Given the description of an element on the screen output the (x, y) to click on. 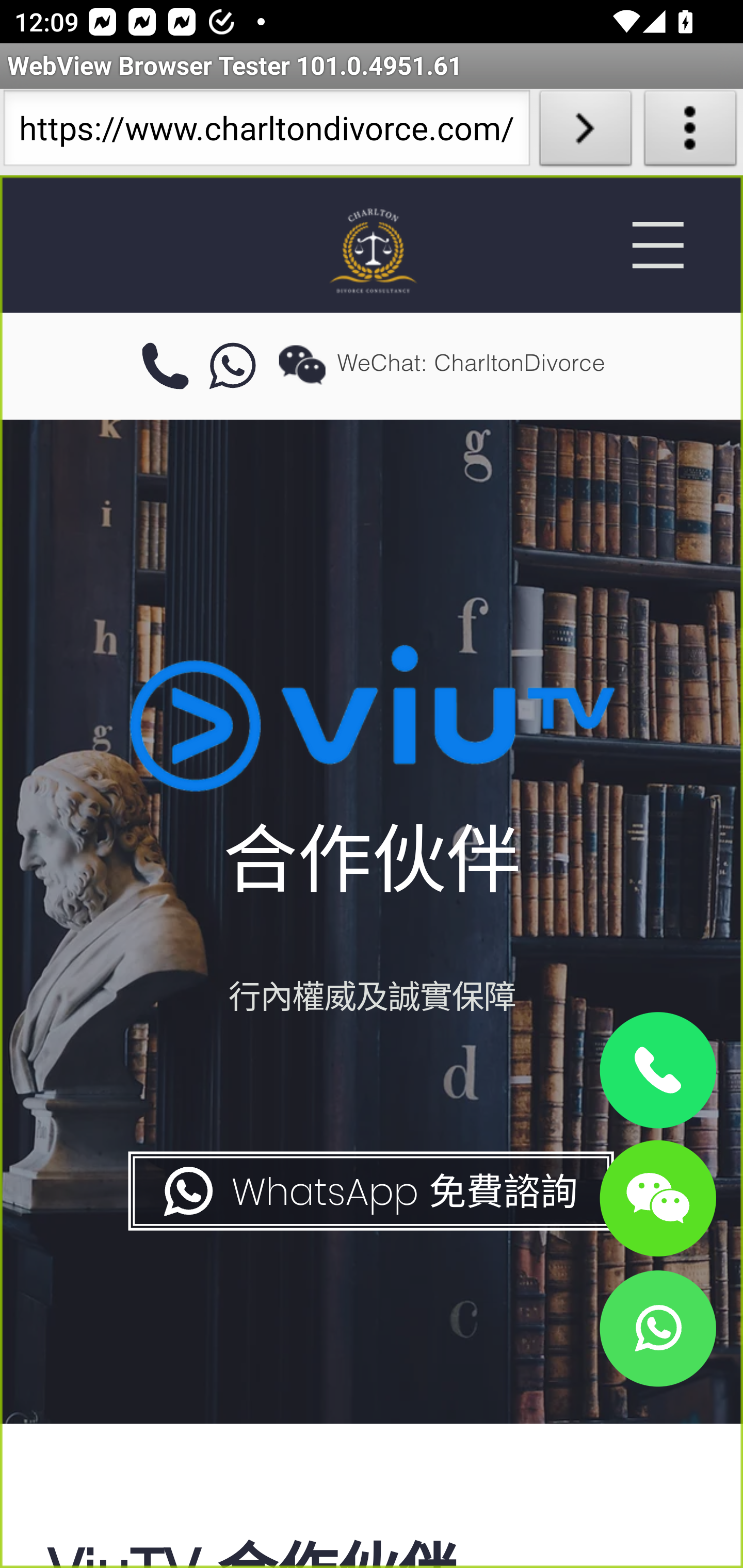
Load URL (585, 132)
About WebView (690, 132)
Open navigation menu (657, 245)
500x500 沒背景.png (371, 249)
tel:+852 9692 7577 (164, 366)
o7rumn (232, 366)
wechat2_edited_edited.png (301, 364)
Phone (657, 1070)
WeChat: CharltonDivorce (657, 1196)
WhatsApp 免費諮詢 (369, 1191)
WhatsApp (657, 1327)
